Given the description of an element on the screen output the (x, y) to click on. 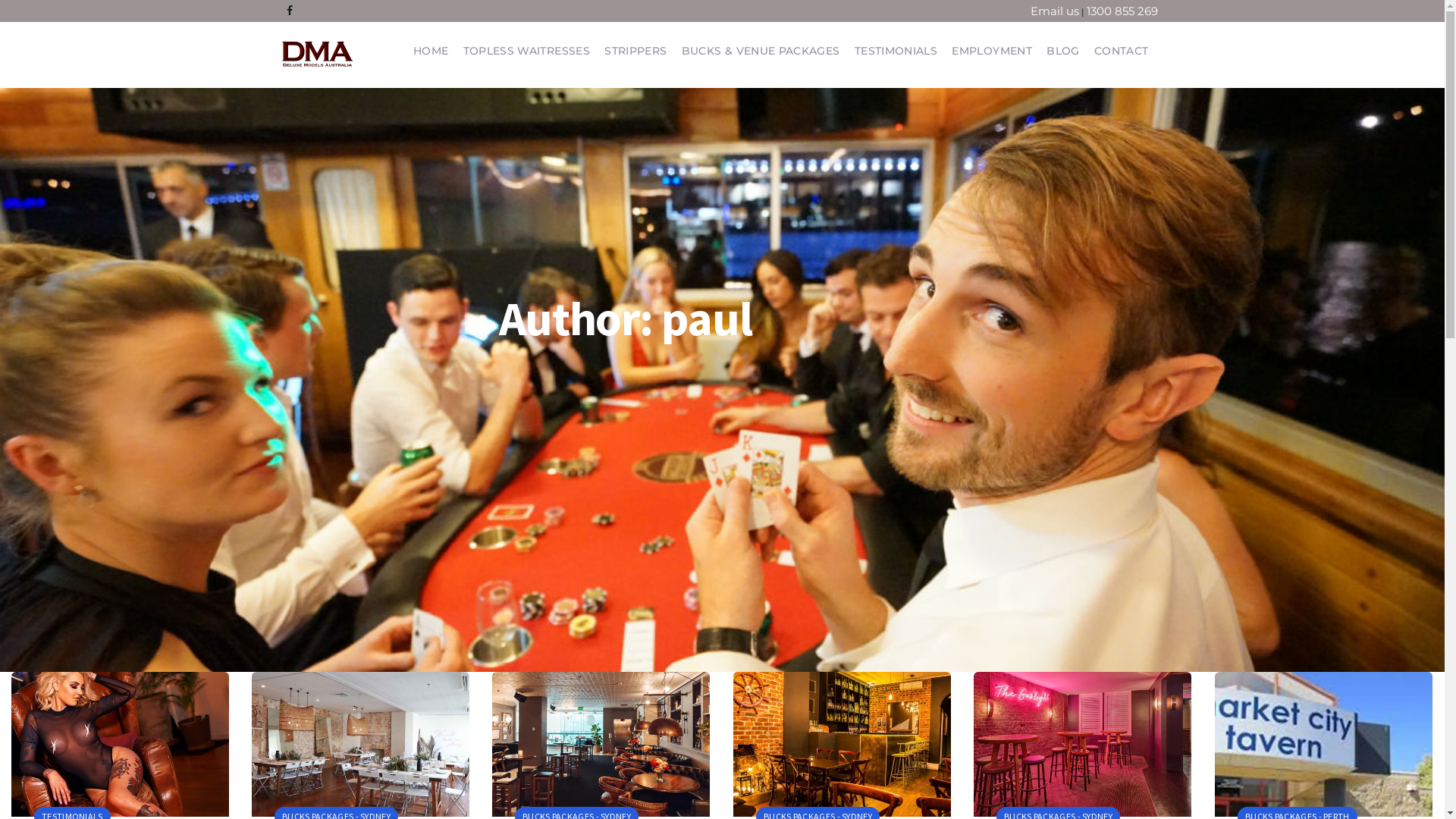
TESTIMONIALS Element type: text (895, 50)
Kittyhawk, Sydney Element type: hover (600, 744)
Honkas, Potts Point Element type: hover (360, 744)
Gaslight Inn, Darlinghurst Element type: hover (1082, 744)
1300 855 269 Element type: text (1121, 10)
HOME Element type: text (430, 50)
CONTACT Element type: text (1121, 50)
STRIPPERS Element type: text (635, 50)
Luke S Element type: hover (120, 744)
BUCKS & VENUE PACKAGES Element type: text (760, 50)
BLOG Element type: text (1062, 50)
EMPLOYMENT Element type: text (991, 50)
Market City Tavern Element type: hover (1323, 744)
TOPLESS WAITRESSES Element type: text (526, 50)
Email us Element type: text (1054, 10)
